Given the description of an element on the screen output the (x, y) to click on. 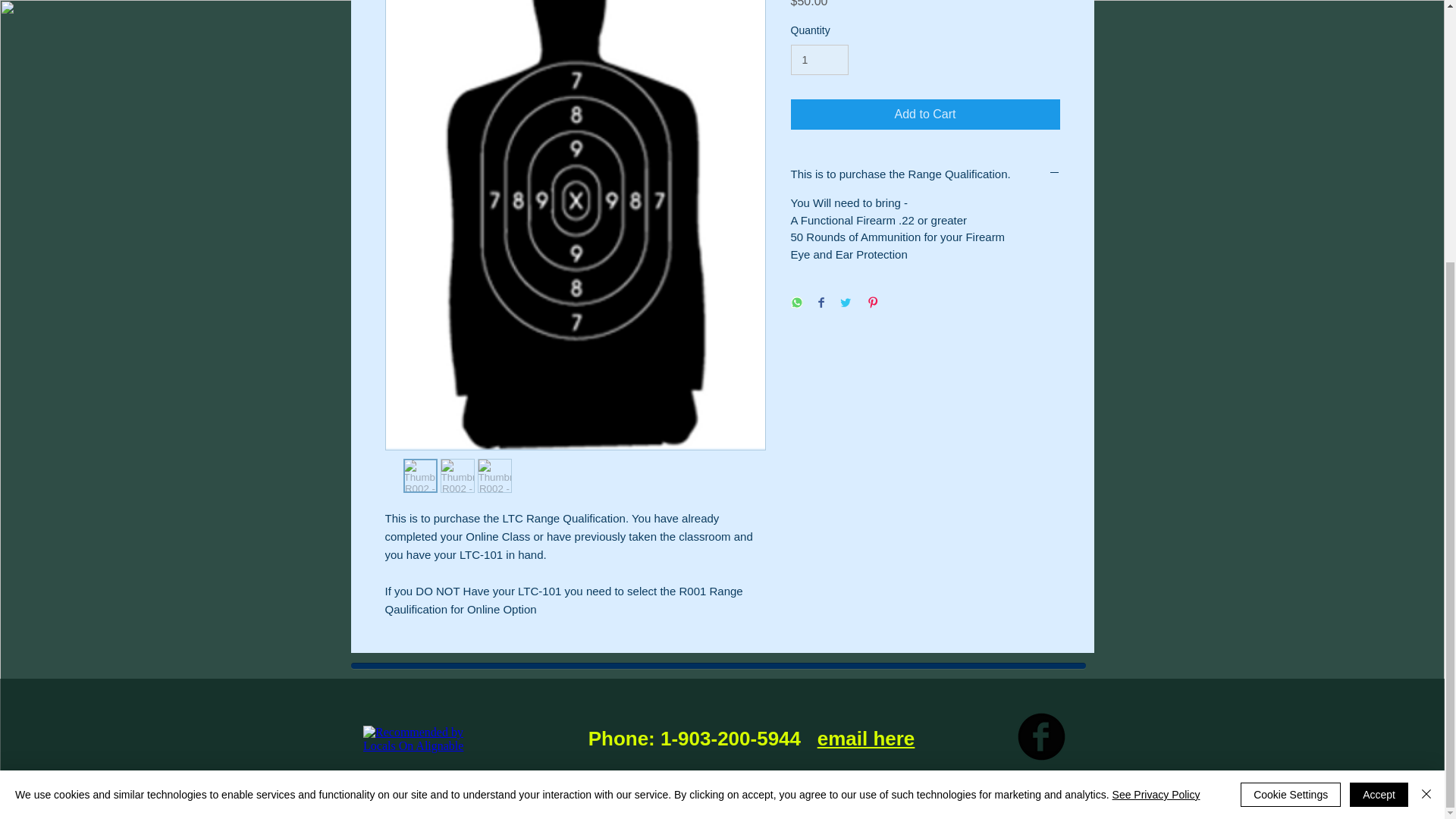
1 (818, 60)
Embedded Content (459, 737)
email here (865, 738)
Cookie Settings (1290, 416)
Accept (1378, 416)
Embedded Content (426, 748)
This is to purchase the Range Qualification. (924, 173)
Add to Cart (924, 114)
See Privacy Policy (1155, 417)
